Given the description of an element on the screen output the (x, y) to click on. 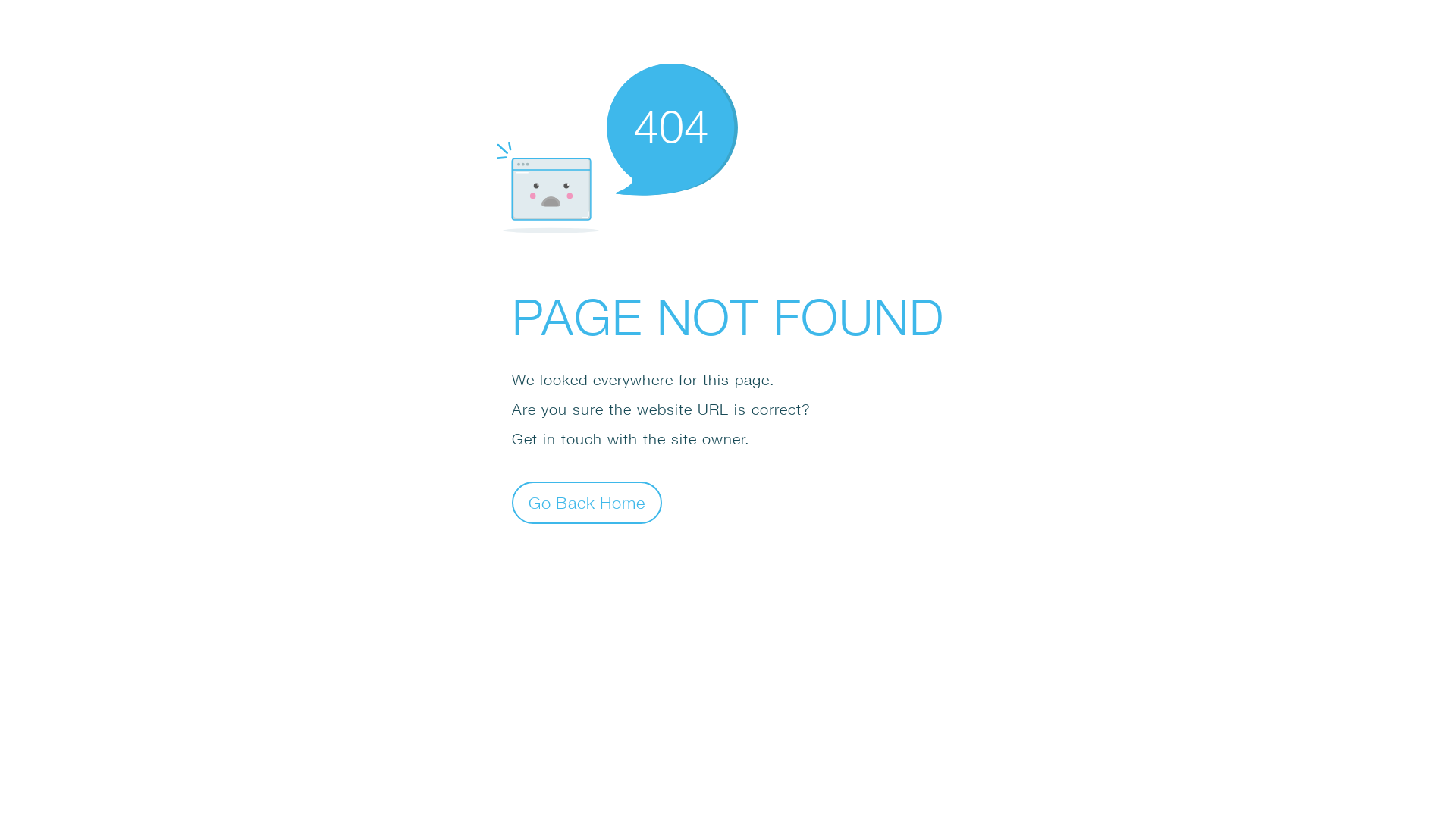
Go Back Home Element type: text (586, 502)
